Given the description of an element on the screen output the (x, y) to click on. 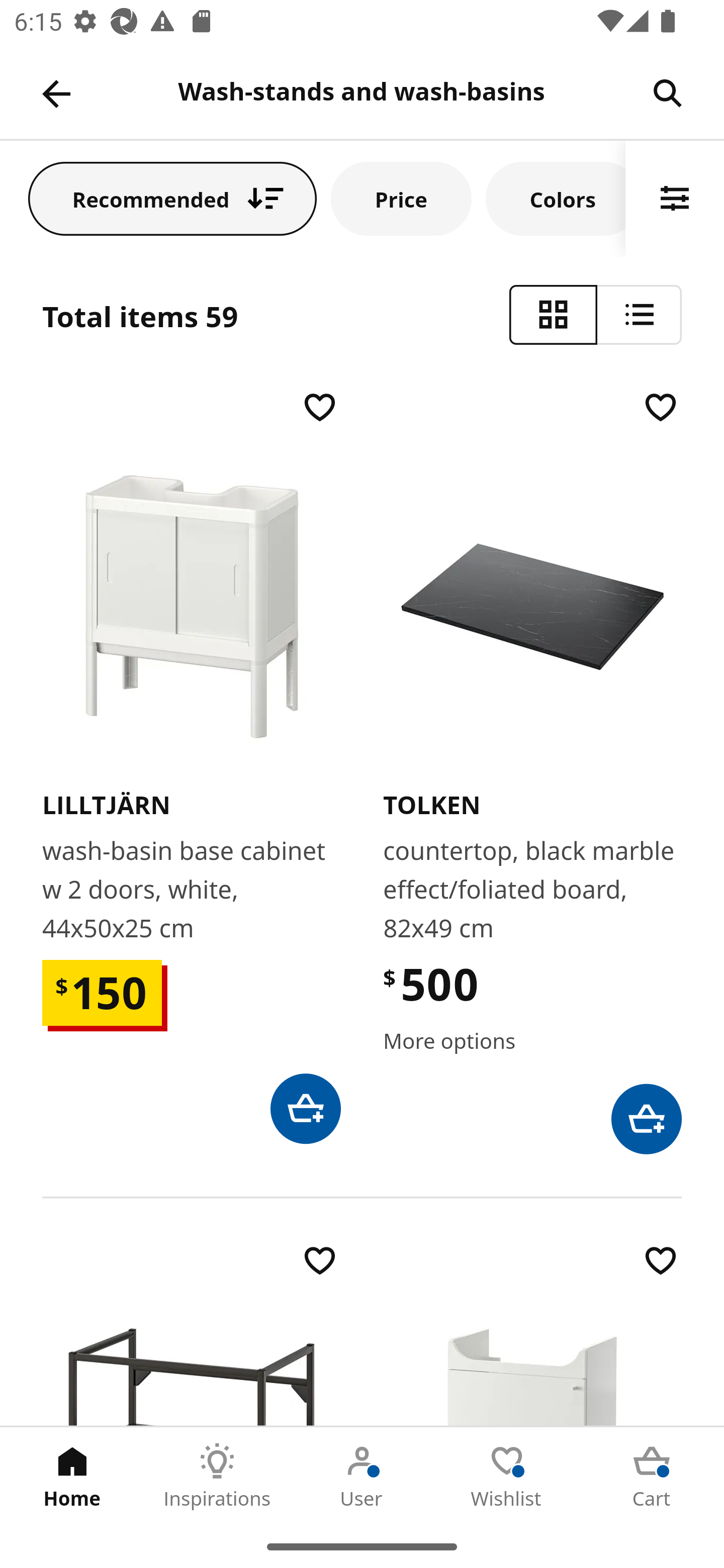
Recommended (172, 198)
Price (400, 198)
Colors (555, 198)
Home
Tab 1 of 5 (72, 1476)
Inspirations
Tab 2 of 5 (216, 1476)
User
Tab 3 of 5 (361, 1476)
Wishlist
Tab 4 of 5 (506, 1476)
Cart
Tab 5 of 5 (651, 1476)
